Given the description of an element on the screen output the (x, y) to click on. 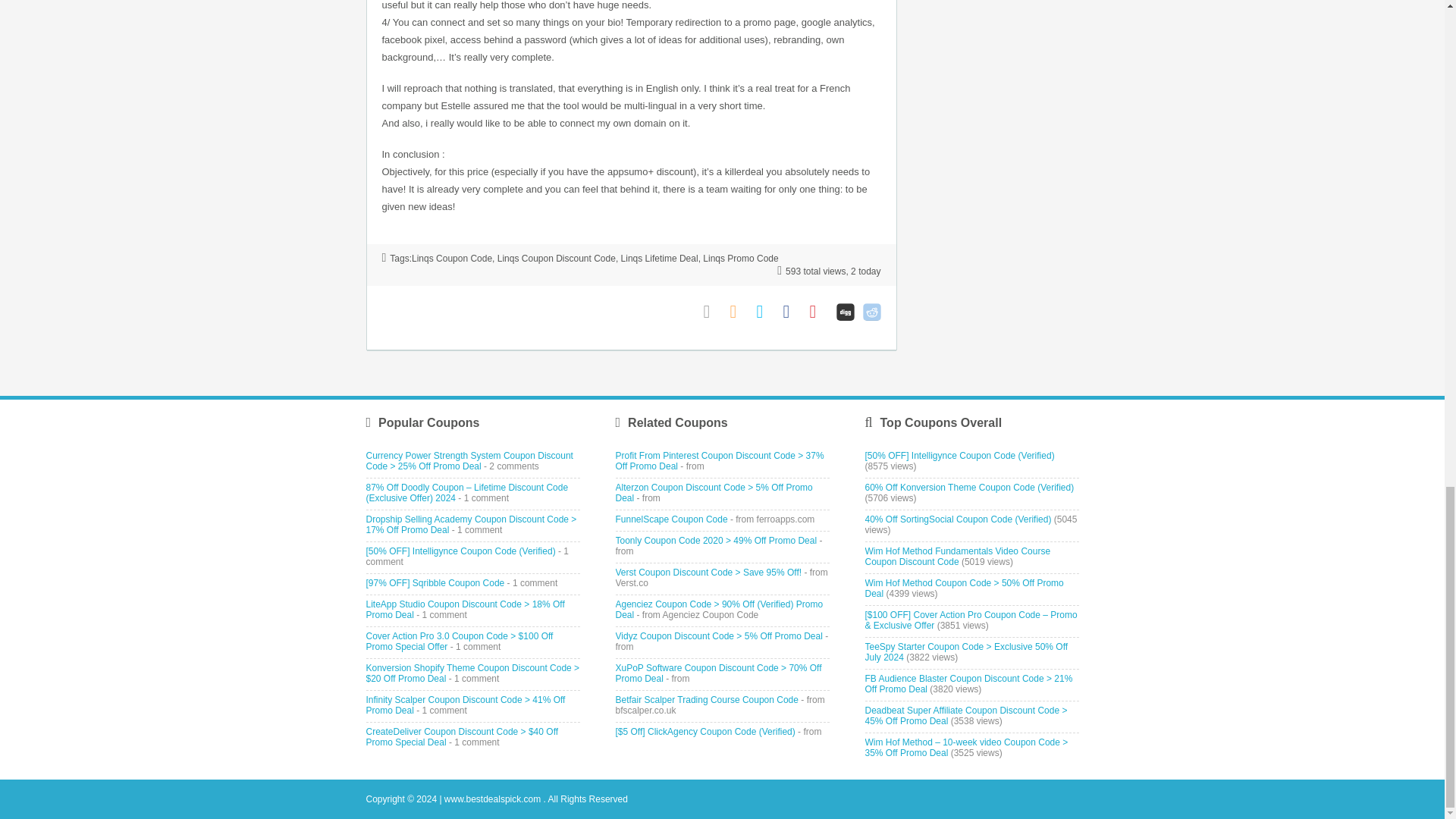
Facebook (791, 312)
Linqs Lifetime Deal (659, 258)
Linqs Coupon Discount Code (556, 258)
Reddit (871, 312)
Pinterest (818, 312)
Linqs Coupon Code (452, 258)
Twitter (765, 312)
Email to Friend (712, 312)
Digg (844, 312)
Linqs Promo Code (740, 258)
Coupon Comments RSS (738, 312)
